Given the description of an element on the screen output the (x, y) to click on. 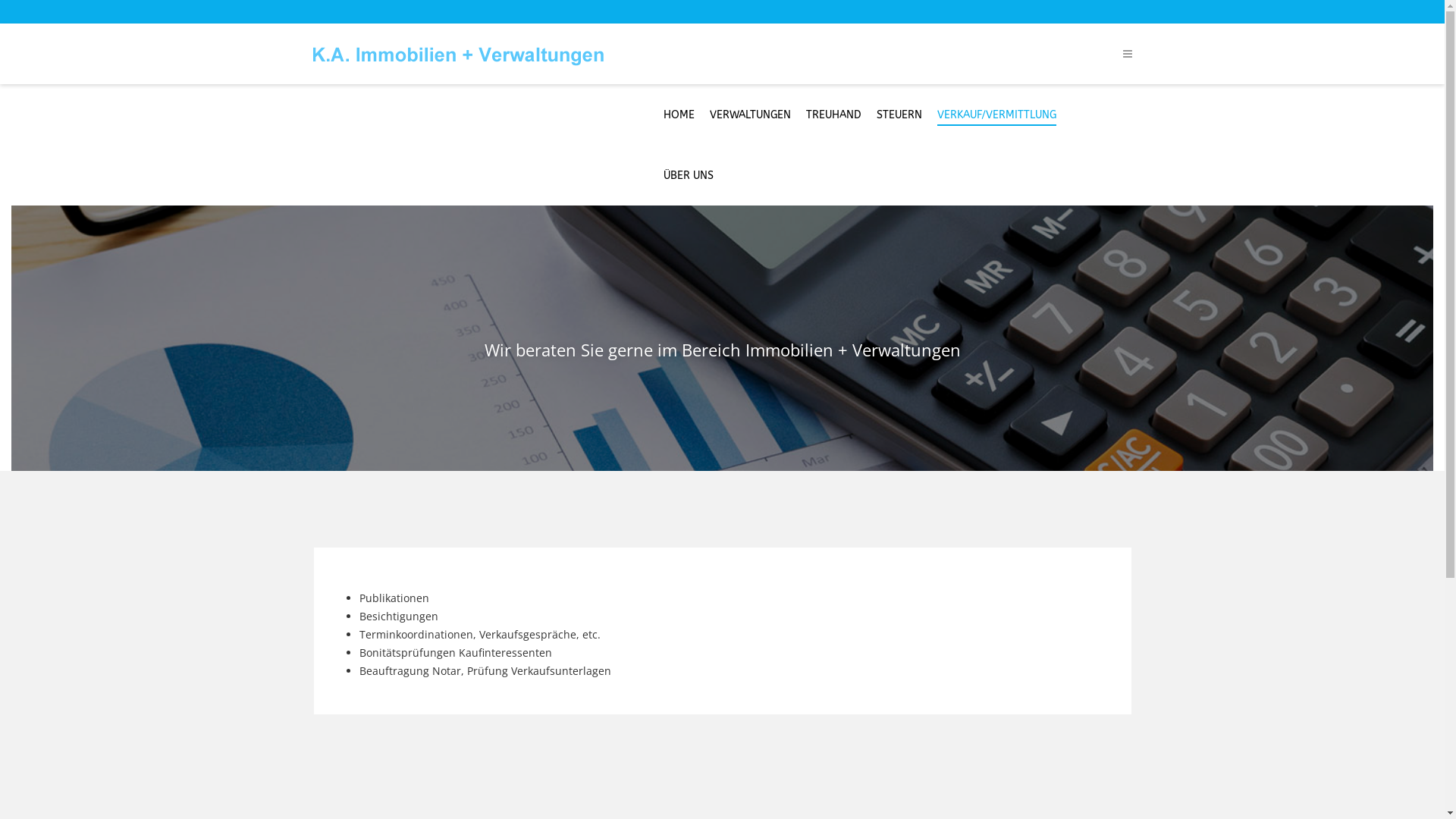
STEUERN Element type: text (899, 114)
VERKAUF/VERMITTLUNG Element type: text (996, 114)
VERWALTUNGEN Element type: text (749, 114)
TREUHAND Element type: text (833, 114)
HOME Element type: text (678, 114)
